Given the description of an element on the screen output the (x, y) to click on. 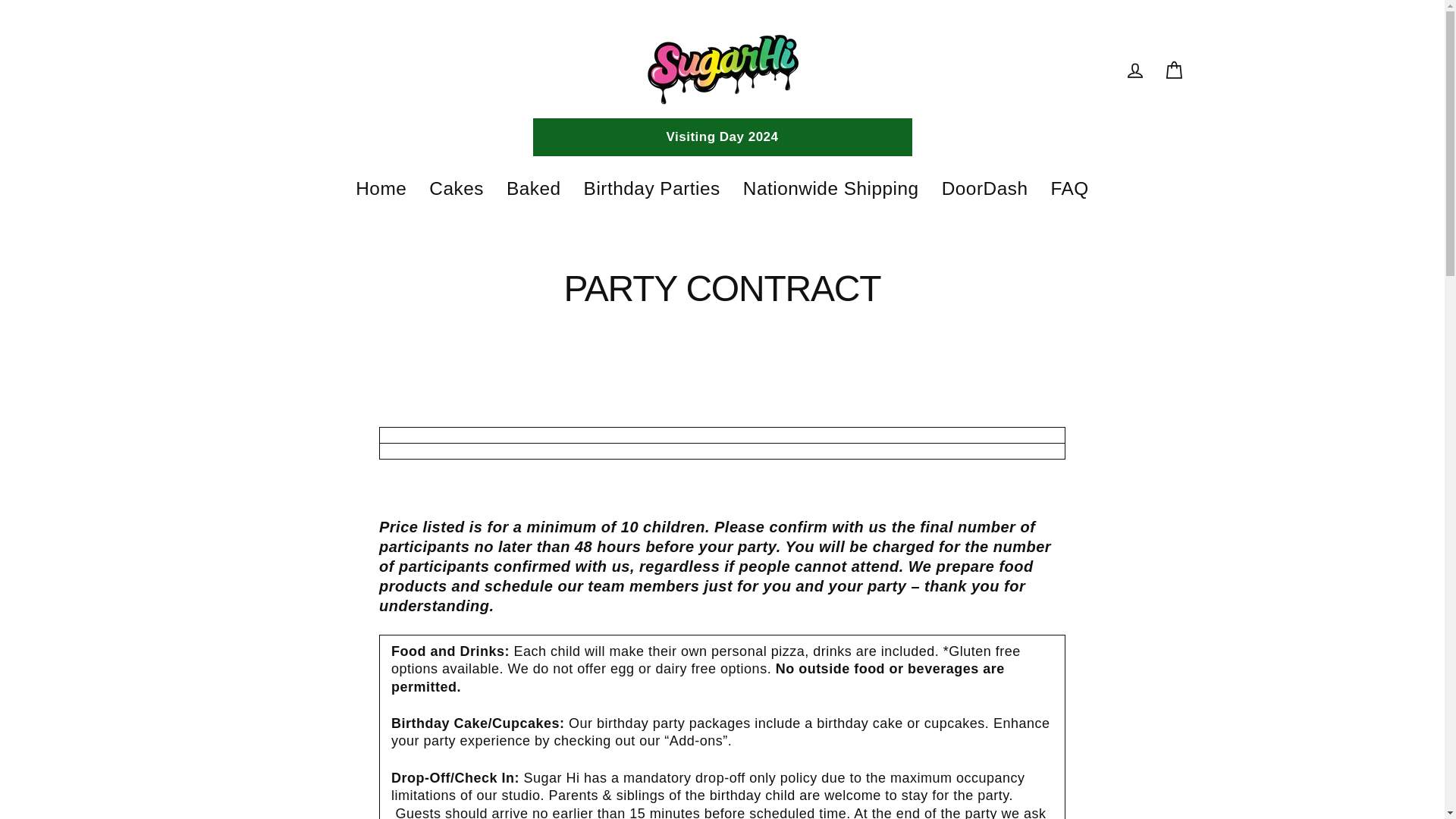
Visiting Day 2024 (721, 136)
Baked (533, 189)
Log in (1134, 70)
Cakes (456, 189)
DoorDash (984, 189)
Birthday Parties (652, 189)
Cart (1173, 70)
Home (380, 189)
FAQ (1069, 189)
Nationwide Shipping (831, 189)
